Given the description of an element on the screen output the (x, y) to click on. 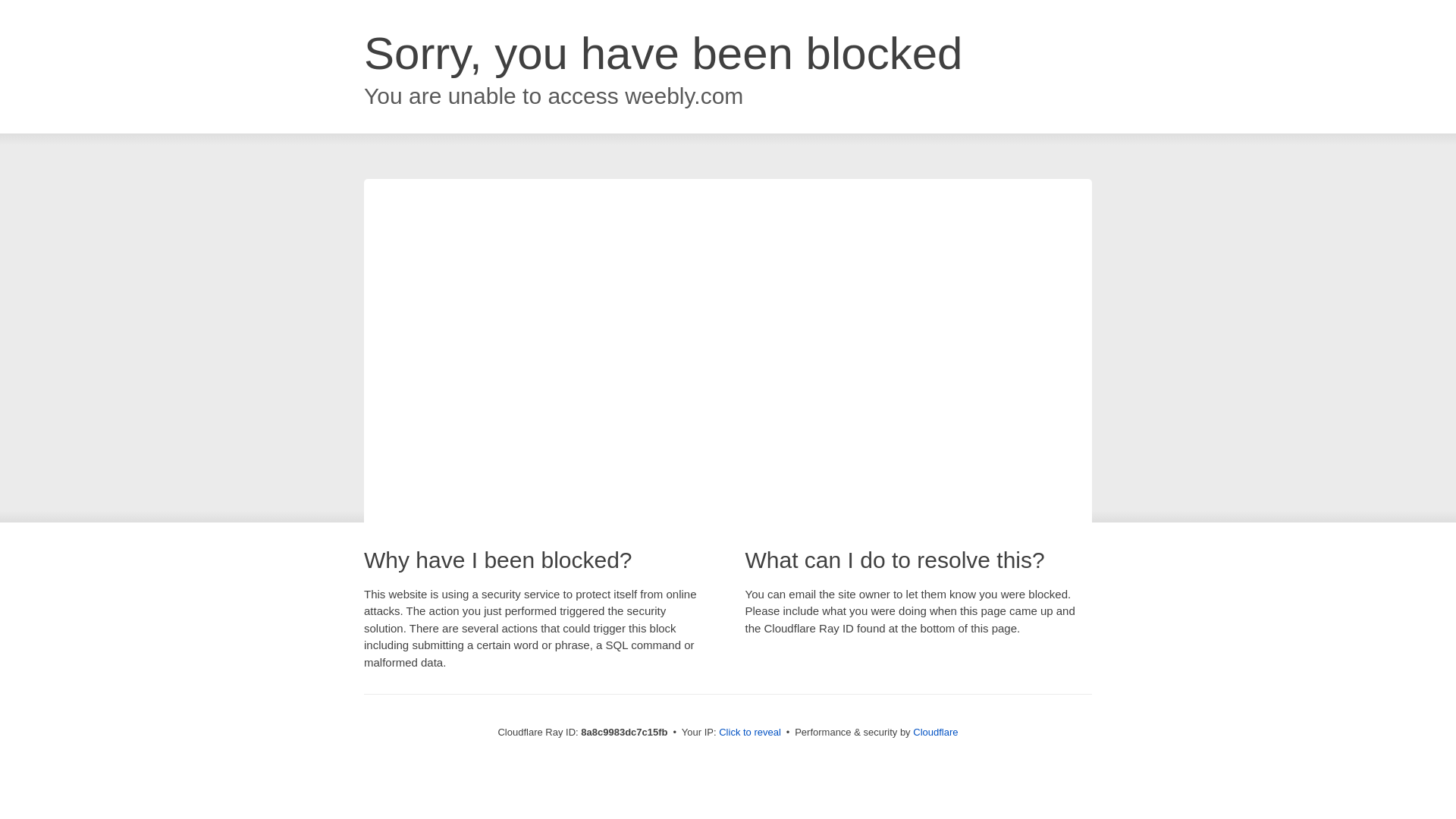
Cloudflare (935, 731)
Click to reveal (749, 732)
